Given the description of an element on the screen output the (x, y) to click on. 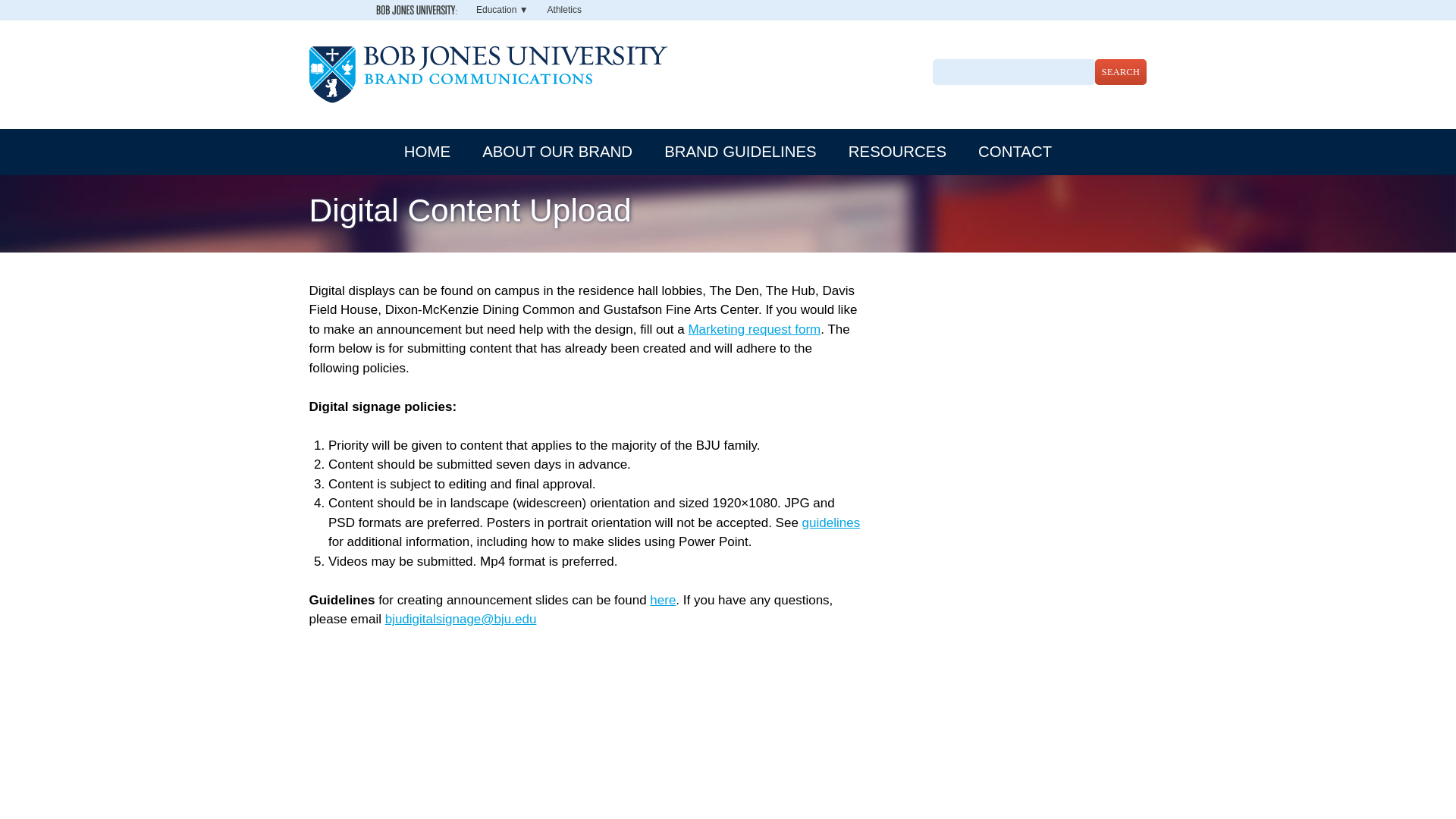
BRAND GUIDELINES (740, 151)
Athletics (563, 9)
RESOURCES (898, 151)
Search (1120, 71)
ABOUT OUR BRAND (557, 151)
Search (1120, 71)
guidelines (831, 522)
CONTACT (1015, 151)
Athletics (563, 9)
HOME (427, 151)
